Given the description of an element on the screen output the (x, y) to click on. 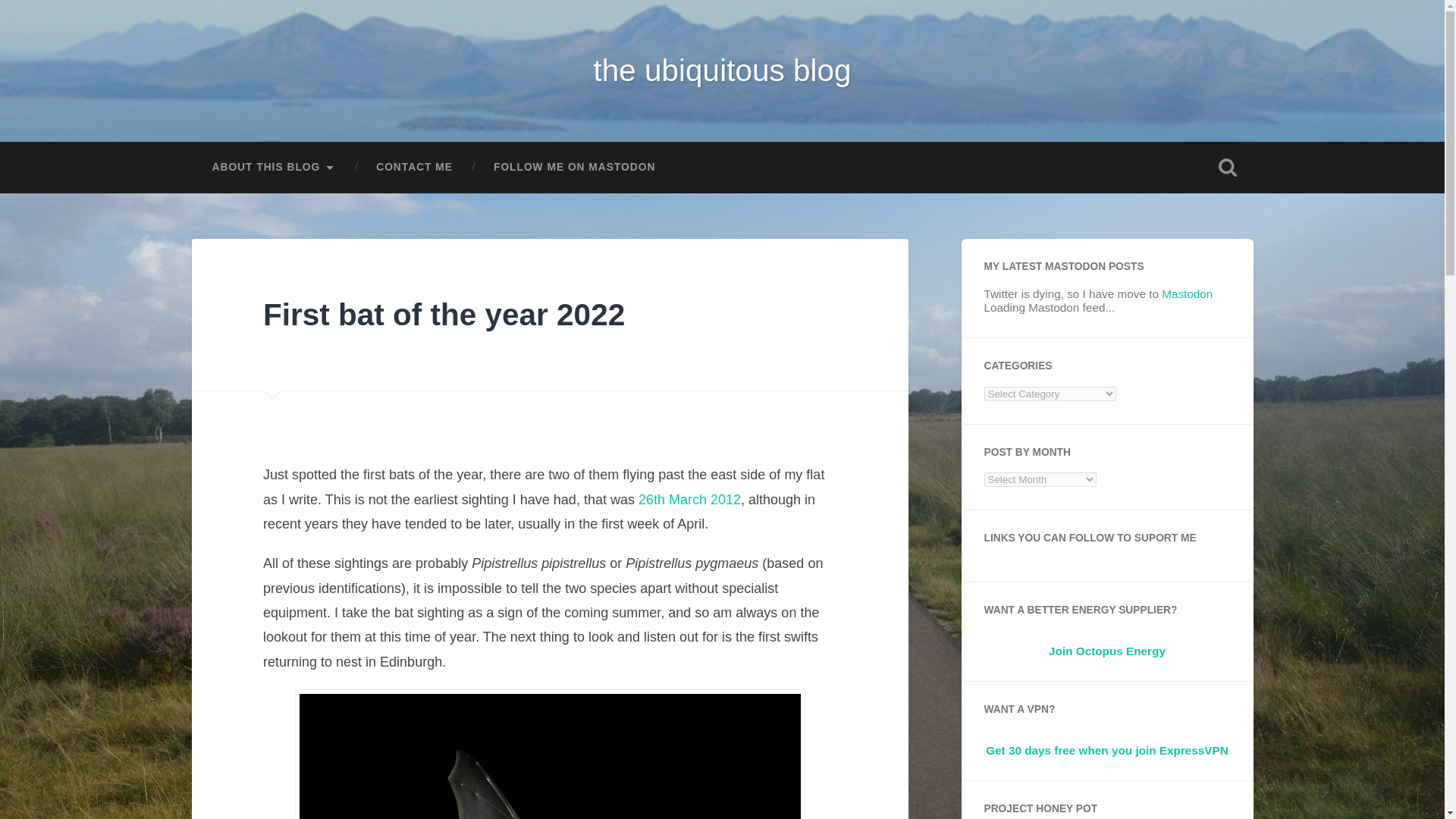
First bat of the year 2022 (443, 314)
ABOUT THIS BLOG (272, 167)
FOLLOW ME ON MASTODON (574, 167)
the ubiquitous blog (721, 70)
26th March 2012 (690, 499)
CONTACT ME (414, 167)
